Given the description of an element on the screen output the (x, y) to click on. 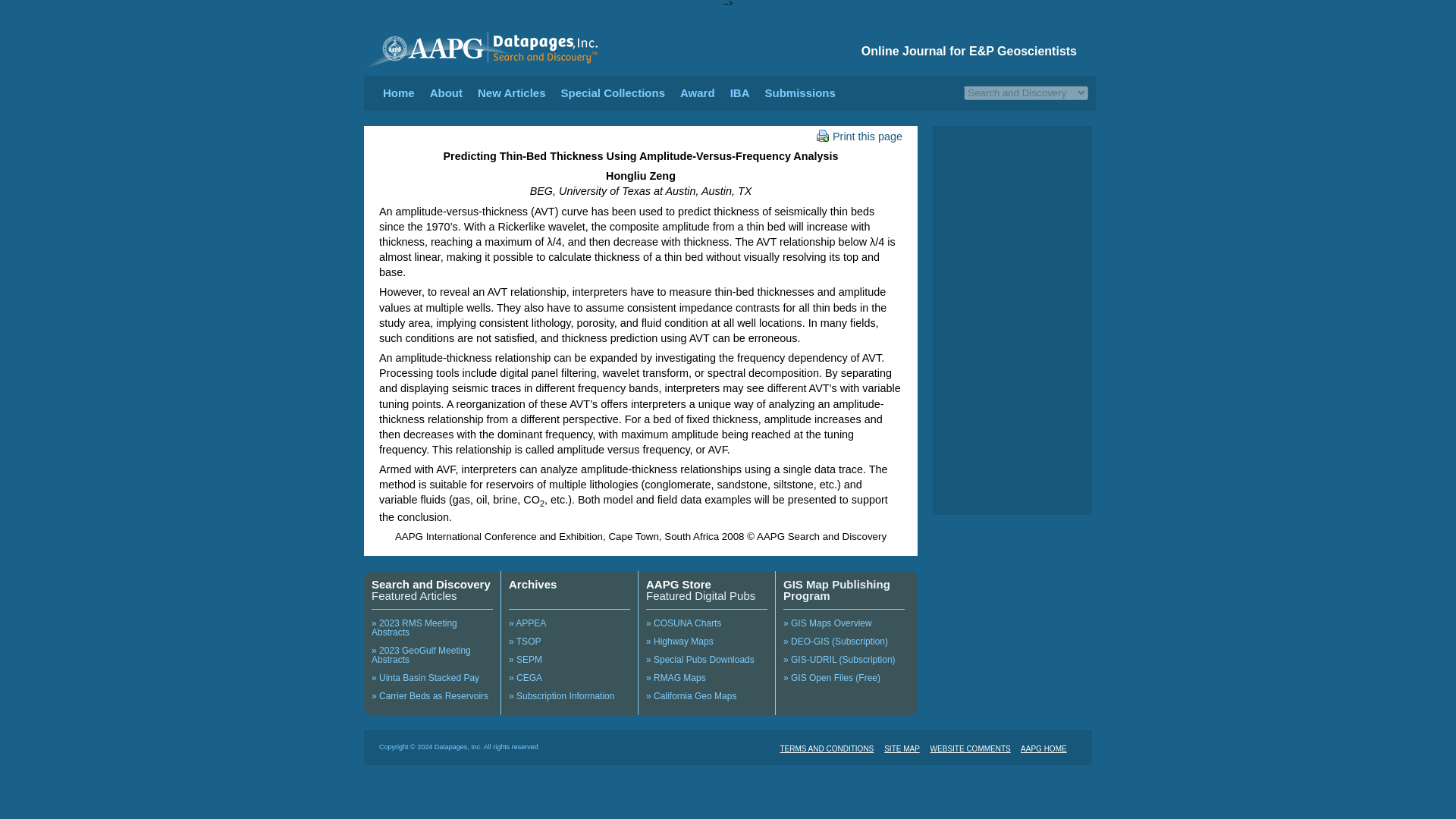
Print this page (858, 136)
Home (398, 92)
3rd party ad content (1011, 193)
Submissions (799, 92)
About (446, 92)
3rd party ad content (1011, 445)
IBA (739, 92)
3rd party ad content (1011, 319)
New Articles (510, 92)
Award (696, 92)
